Given the description of an element on the screen output the (x, y) to click on. 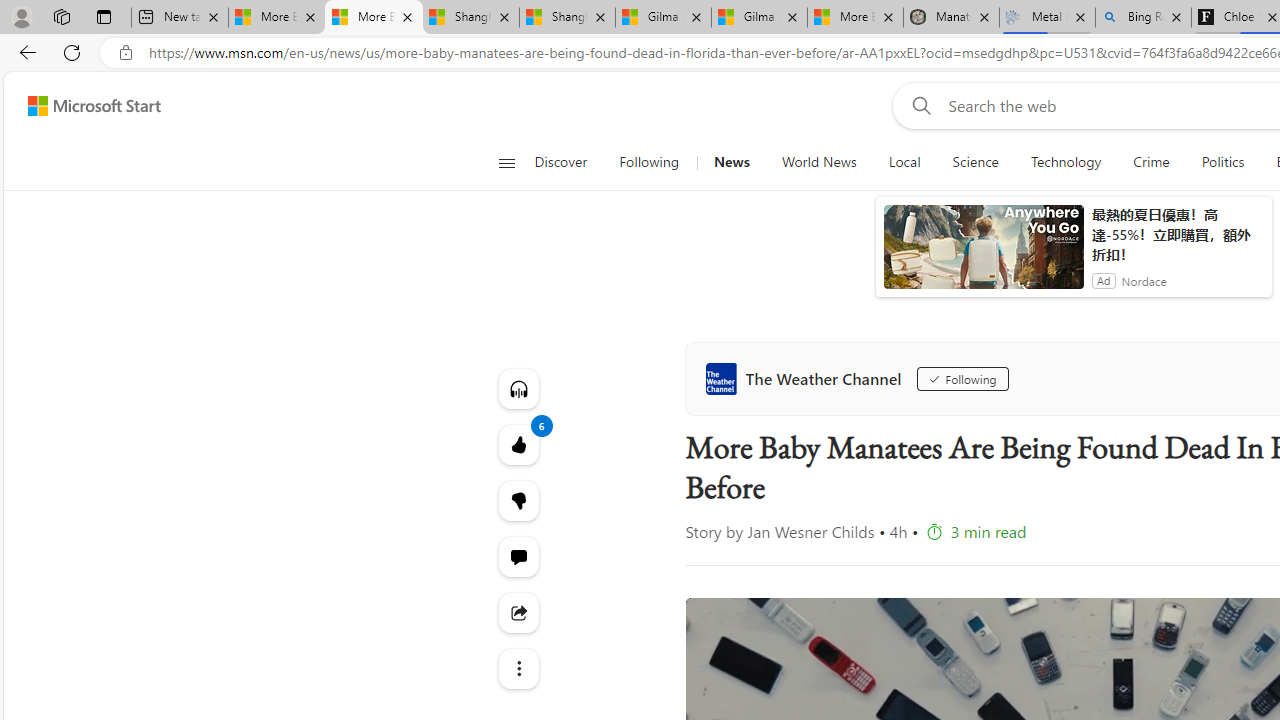
Ad (1103, 280)
Skip to footer (82, 105)
Politics (1222, 162)
More like this6Fewer like thisStart the conversation (517, 500)
Local (903, 162)
Class: button-glyph (505, 162)
Skip to content (86, 105)
Bing Real Estate - Home sales and rental listings (1143, 17)
Following (962, 378)
News (731, 162)
Shanghai, China weather forecast | Microsoft Weather (567, 17)
Crime (1151, 162)
